Given the description of an element on the screen output the (x, y) to click on. 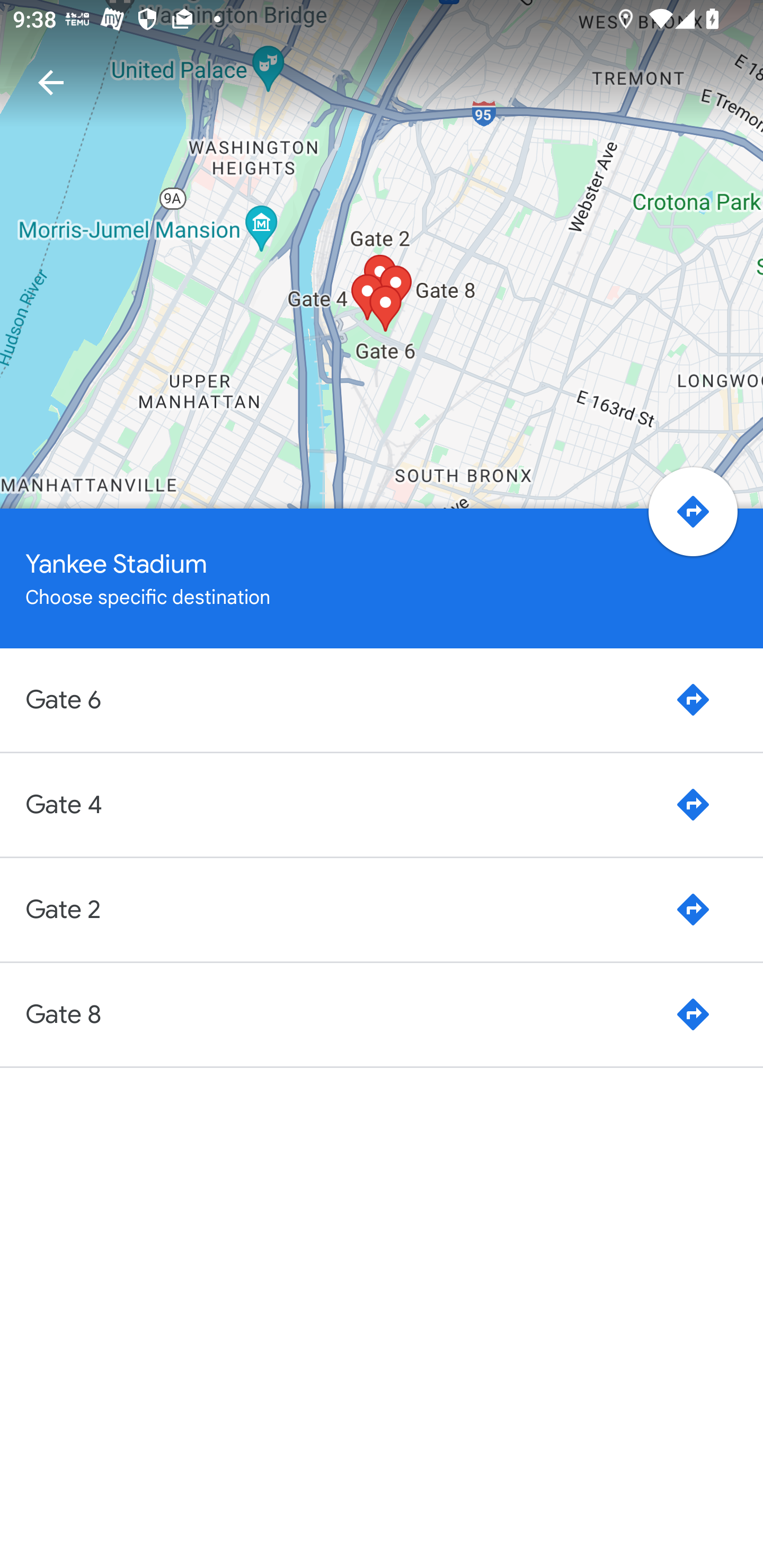
Navigate up (50, 81)
Yankee Stadium Choose specific destination (381, 578)
Gate 6 (339, 699)
Directions to Gate 6 (692, 699)
Gate 4 (339, 804)
Directions to Gate 4 (692, 804)
Gate 2 (339, 909)
Directions to Gate 2 (692, 909)
Gate 8 (339, 1014)
Directions to Gate 8 (692, 1014)
